Given the description of an element on the screen output the (x, y) to click on. 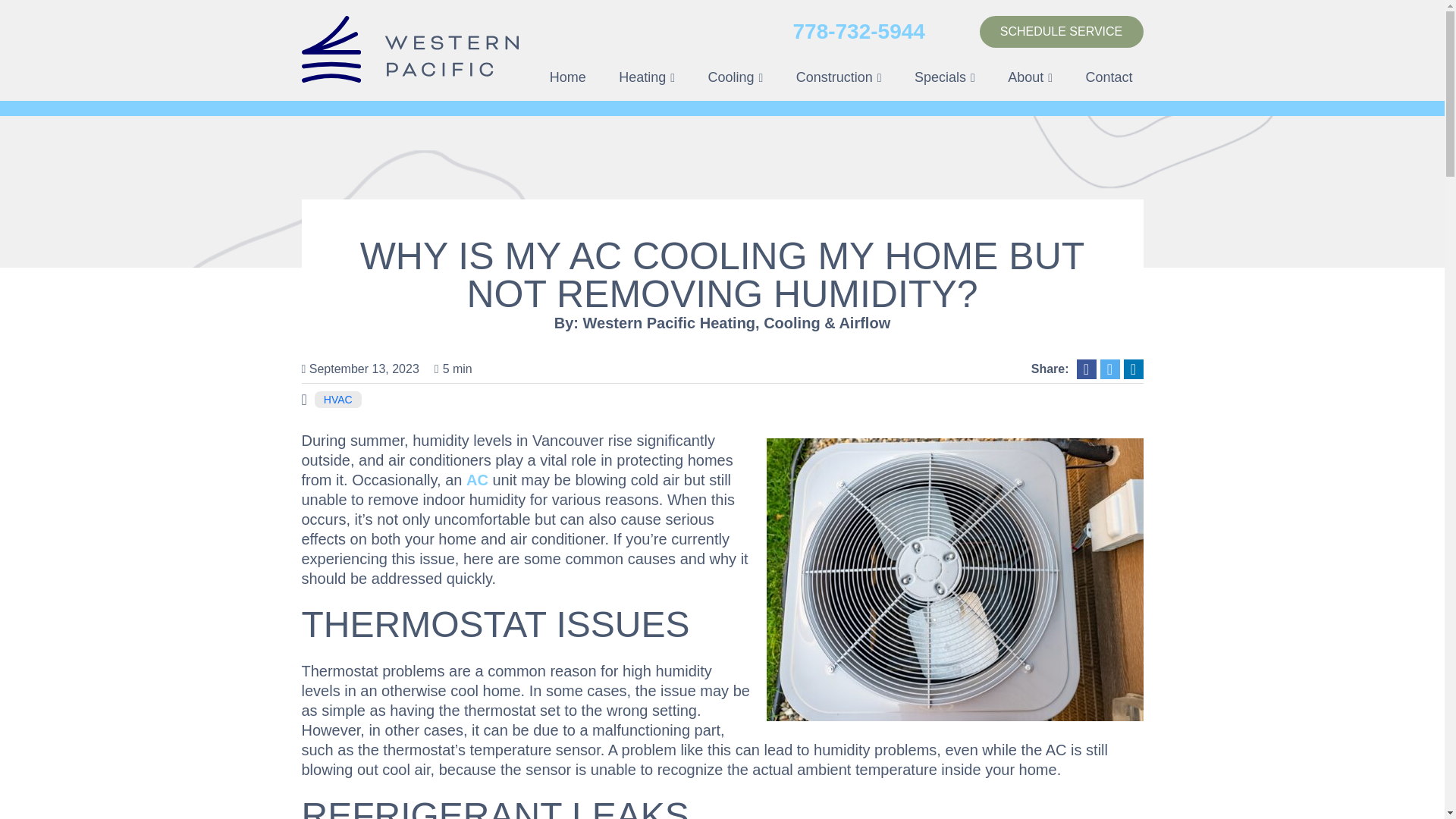
Heating (646, 77)
About (1029, 77)
Home (567, 77)
Cooling (735, 77)
Specials (944, 77)
778-732-5944 (858, 31)
Construction (839, 77)
Why Is My AC Cooling My Home but Not Removing Humidity? (953, 578)
SCHEDULE SERVICE (1060, 31)
